Given the description of an element on the screen output the (x, y) to click on. 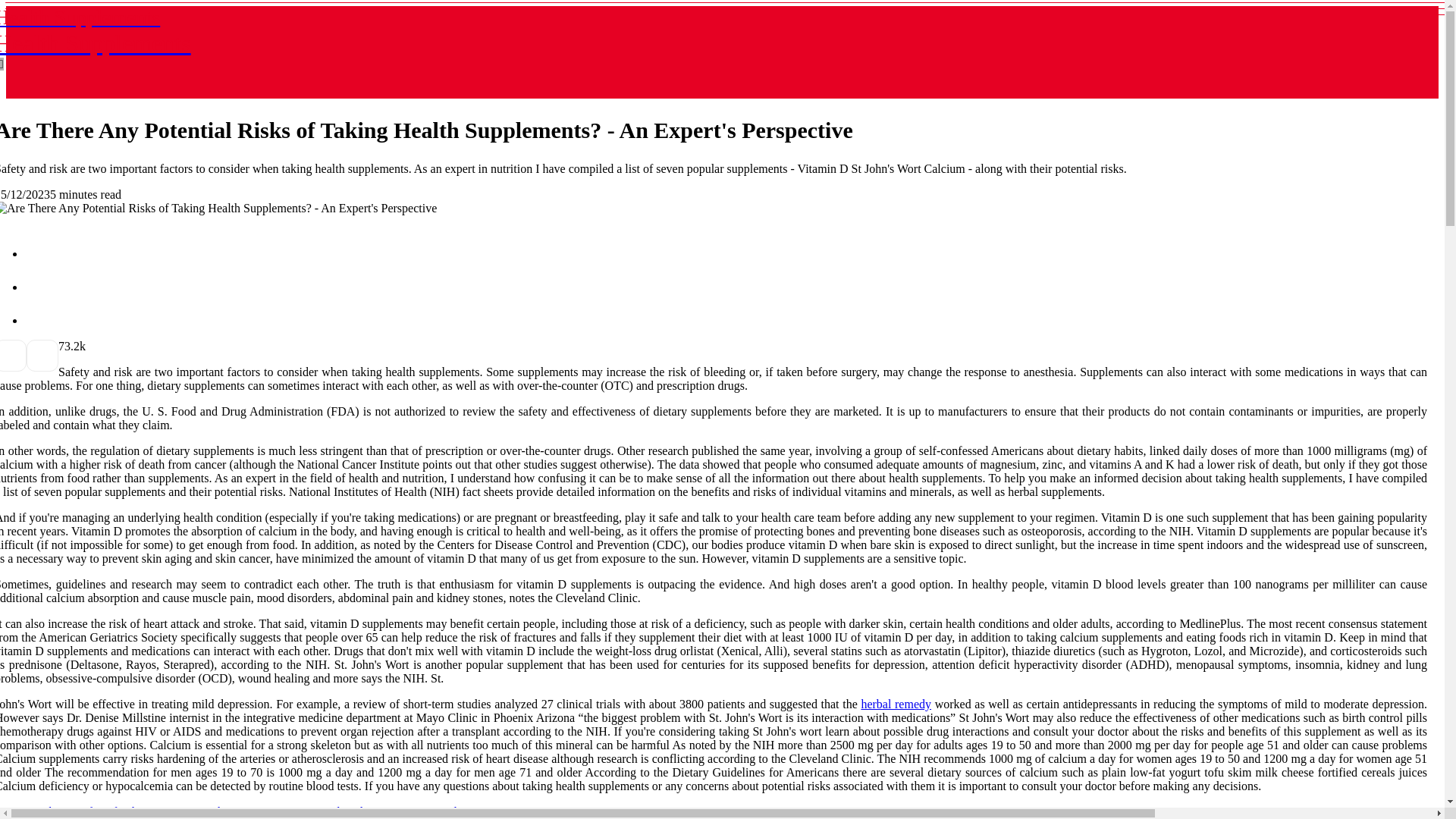
herbal remedy (895, 703)
